Given the description of an element on the screen output the (x, y) to click on. 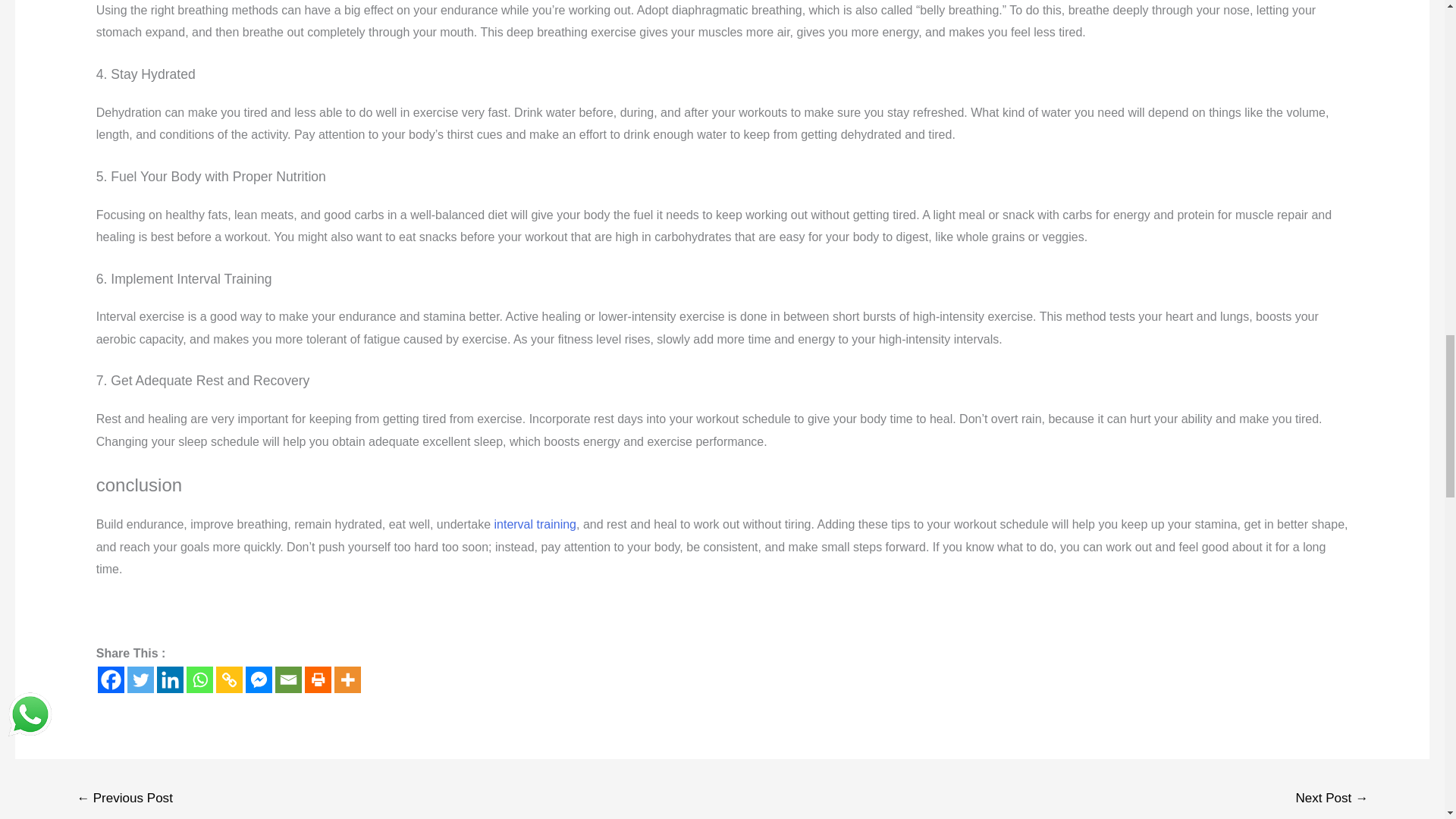
Facebook Messenger (259, 679)
Whatsapp (199, 679)
Print (317, 679)
More (347, 679)
Email (288, 679)
interval training (533, 523)
Linkedin (170, 679)
Twitter (141, 679)
Facebook (110, 679)
Copy Link (229, 679)
